Given the description of an element on the screen output the (x, y) to click on. 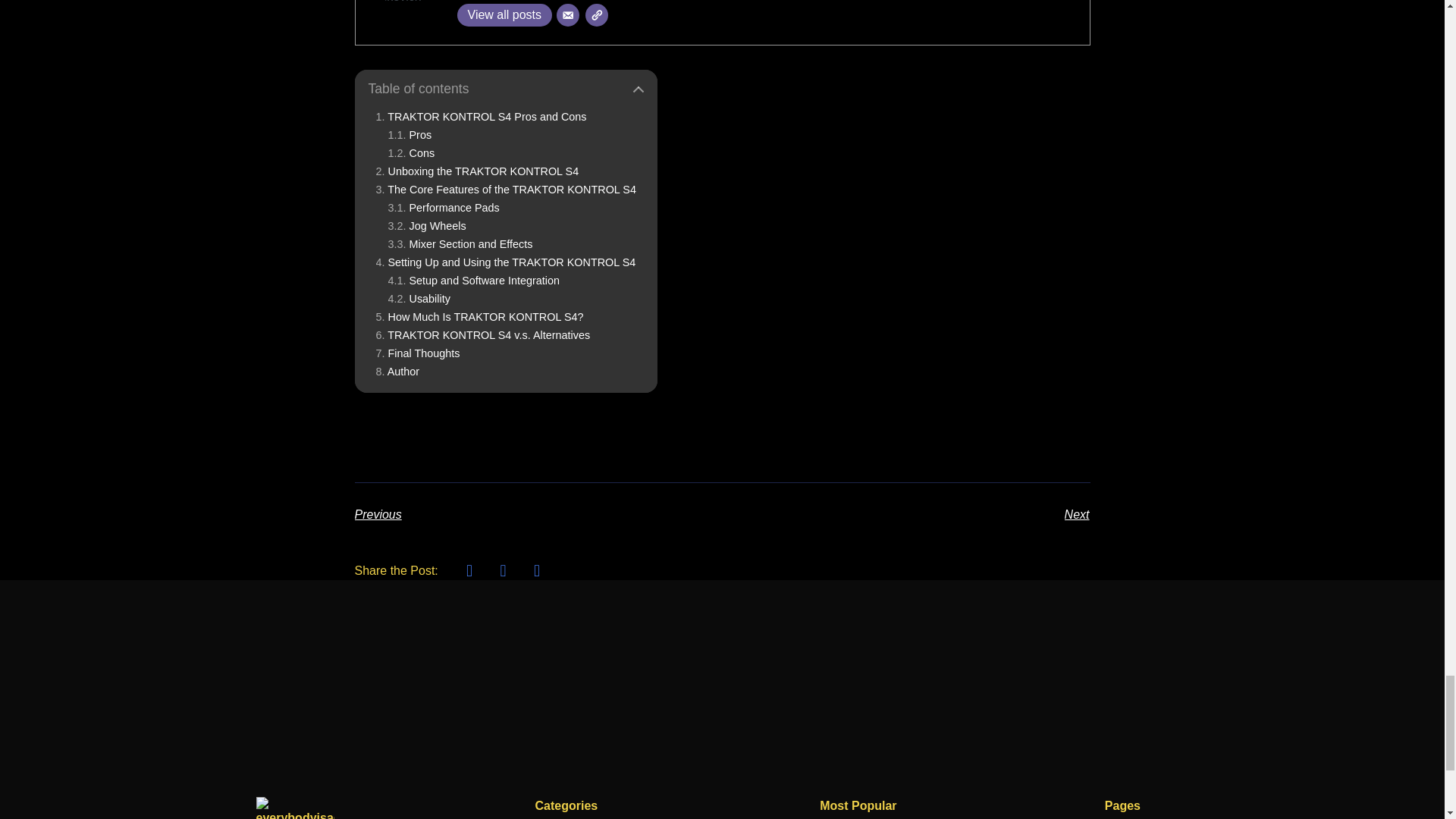
Jog Wheels (426, 225)
Performance Pads (443, 207)
The Core Features of the TRAKTOR KONTROL S4 (505, 189)
Setting Up and Using the TRAKTOR KONTROL S4 (505, 262)
Mixer Section and Effects (460, 244)
Author (397, 371)
View all posts (504, 15)
Setup and Software Integration (473, 280)
TRAKTOR KONTROL S4 v.s. Alternatives (483, 335)
Cons (411, 152)
